Given the description of an element on the screen output the (x, y) to click on. 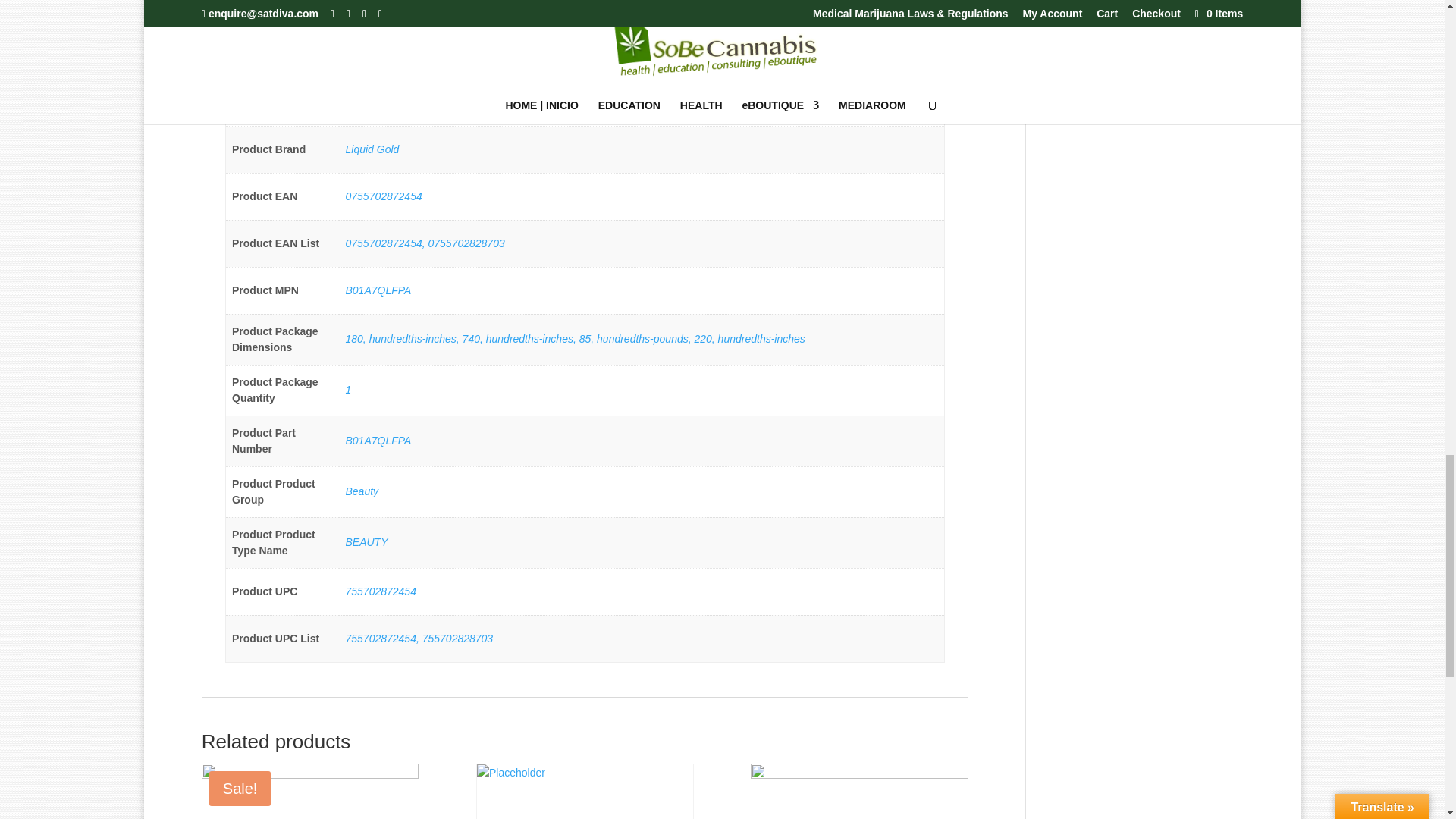
Misc. (358, 102)
B01A7QLFPA (379, 440)
0755702872454 (384, 196)
B01A7QLFPA (379, 290)
Liquid Gold (372, 149)
0755702872454, 0755702828703 (425, 243)
